Given the description of an element on the screen output the (x, y) to click on. 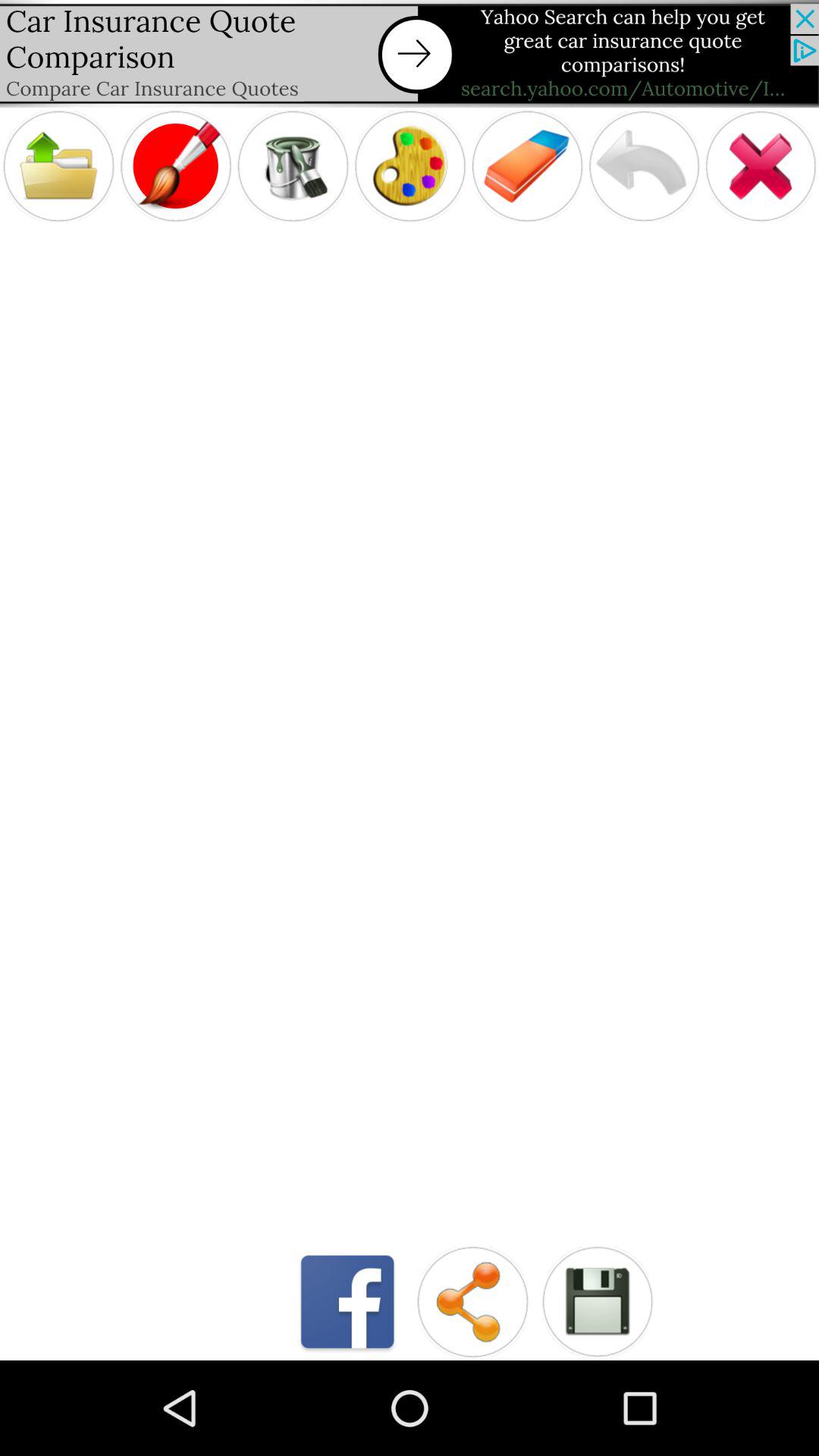
tap paint option (175, 165)
